Given the description of an element on the screen output the (x, y) to click on. 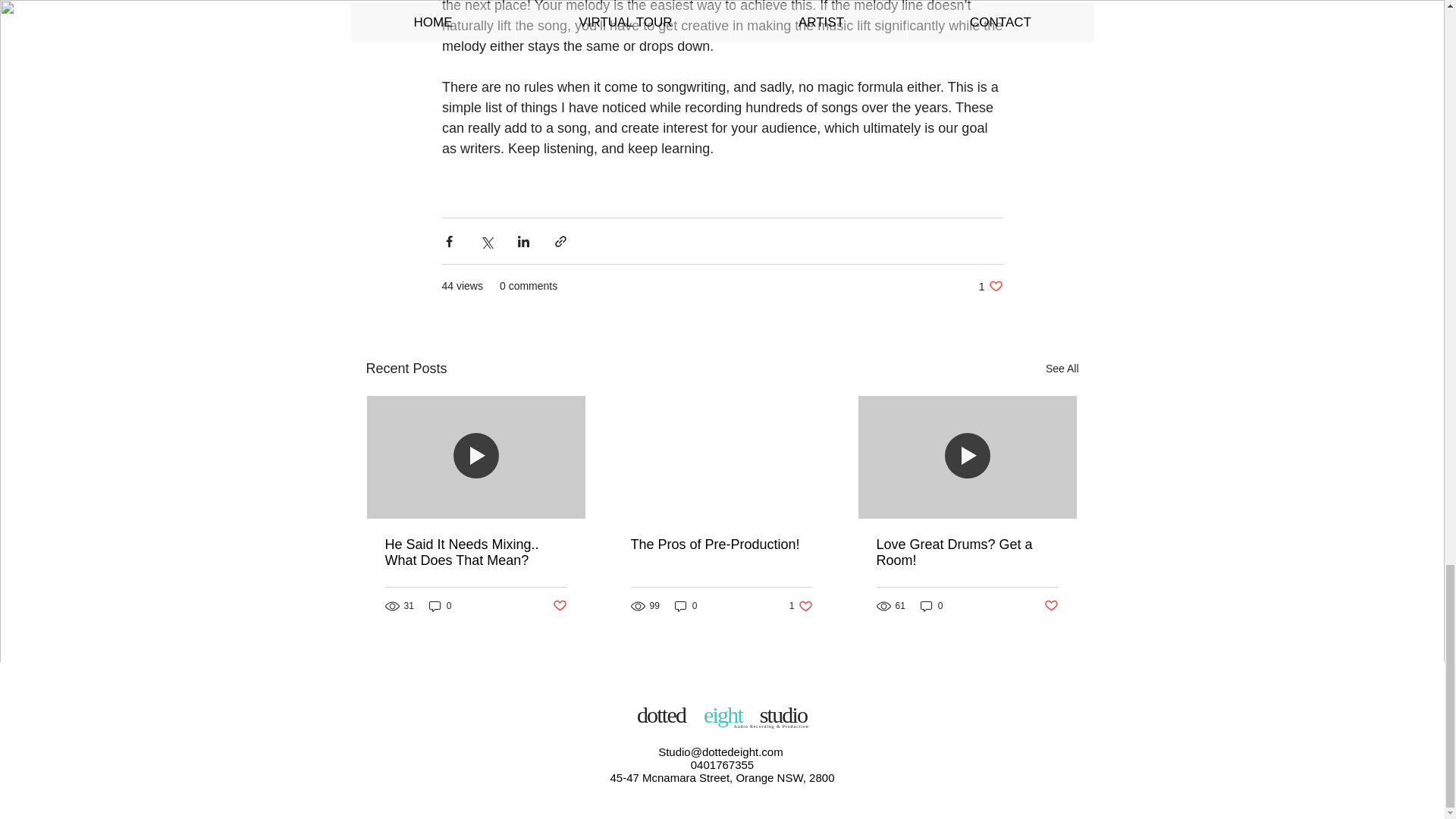
Love Great Drums? Get a Room! (967, 552)
0 (685, 605)
He Said It Needs Mixing.. What Does That Mean? (476, 552)
Post not marked as liked (1050, 606)
0 (931, 605)
0 (440, 605)
Post not marked as liked (990, 286)
The Pros of Pre-Production! (558, 606)
